Given the description of an element on the screen output the (x, y) to click on. 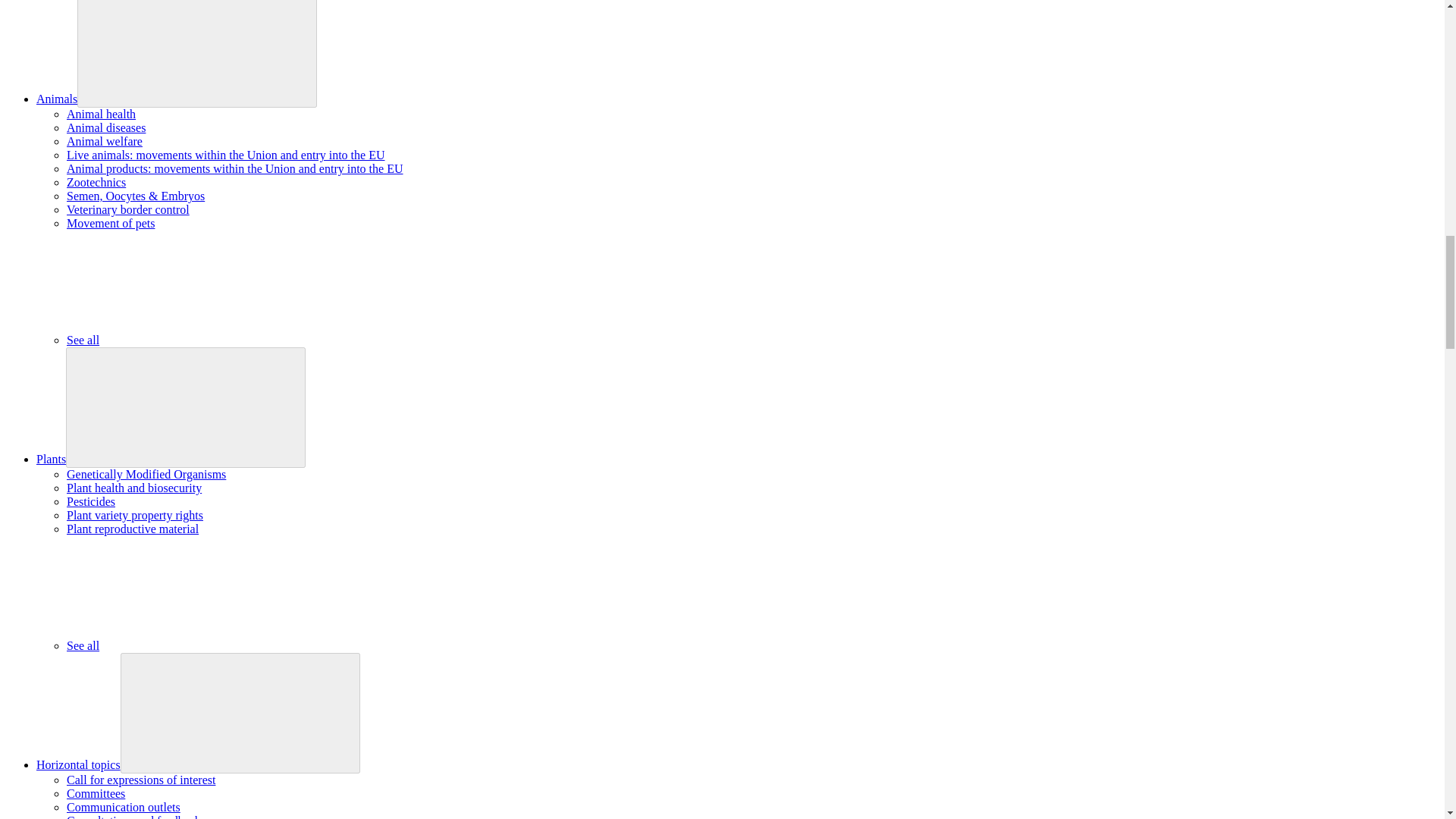
Animal welfare (104, 141)
Movement of pets (110, 223)
Animals (56, 98)
Veterinary border control (127, 209)
Animal diseases (105, 127)
Animal health (100, 113)
Zootechnics (95, 182)
